Given the description of an element on the screen output the (x, y) to click on. 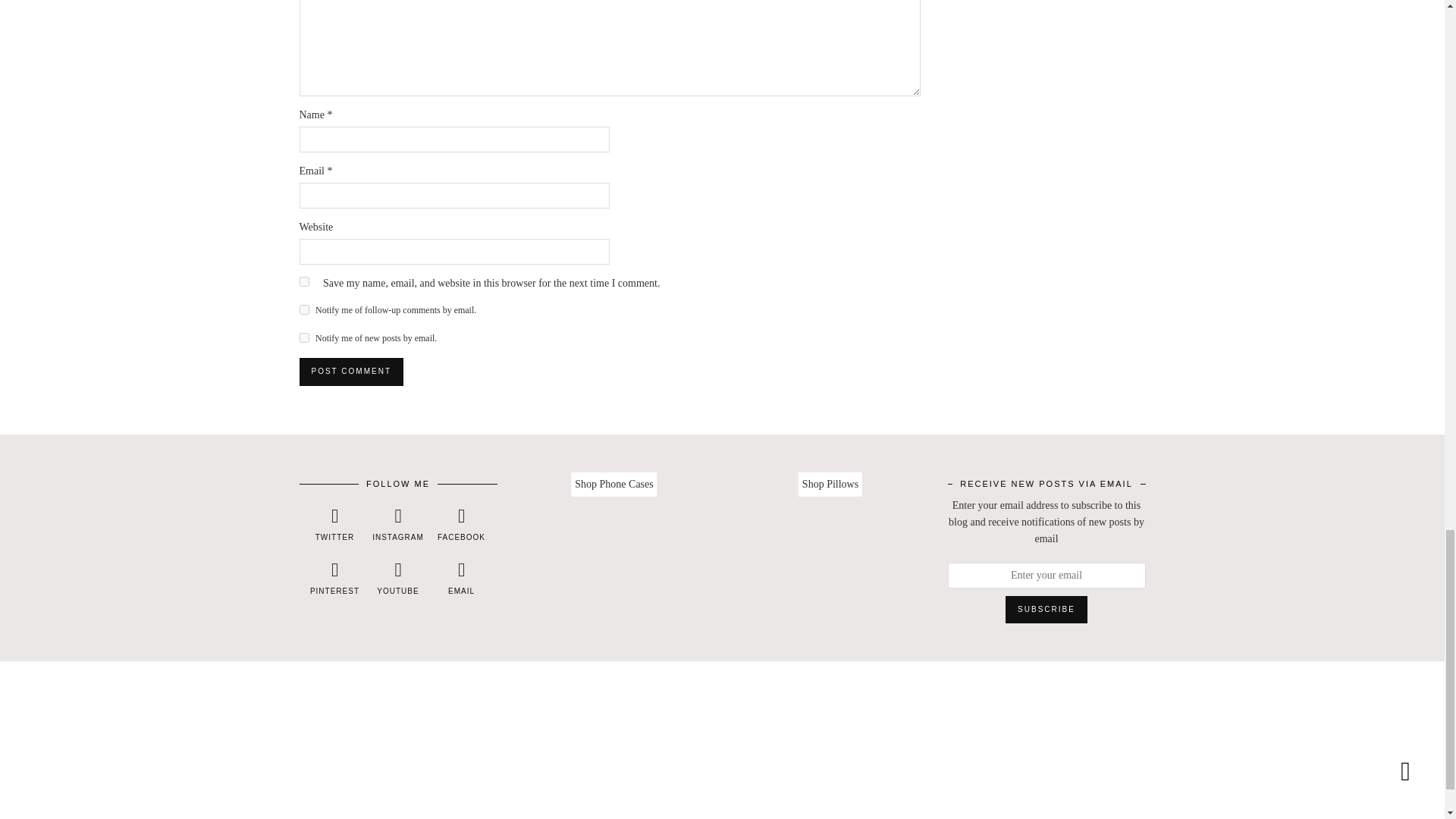
Subscribe (1046, 609)
subscribe (303, 337)
Post Comment (350, 370)
Post Comment (350, 370)
yes (303, 281)
subscribe (303, 309)
